Given the description of an element on the screen output the (x, y) to click on. 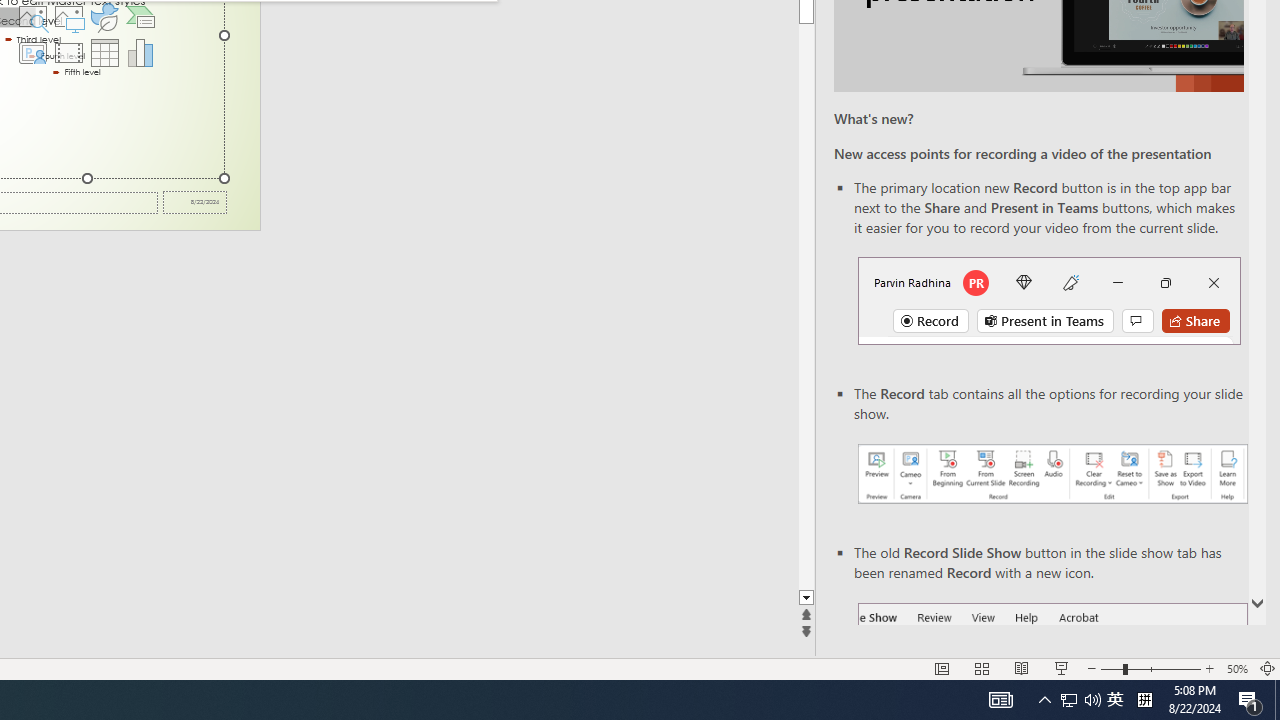
Insert an Icon (105, 16)
Insert Video (68, 52)
Insert Chart (141, 52)
Insert Cameo (32, 52)
Date (194, 201)
Zoom 50% (1236, 668)
Insert Table (105, 52)
Insert a SmartArt Graphic (141, 16)
Record button in top bar (1049, 300)
